Given the description of an element on the screen output the (x, y) to click on. 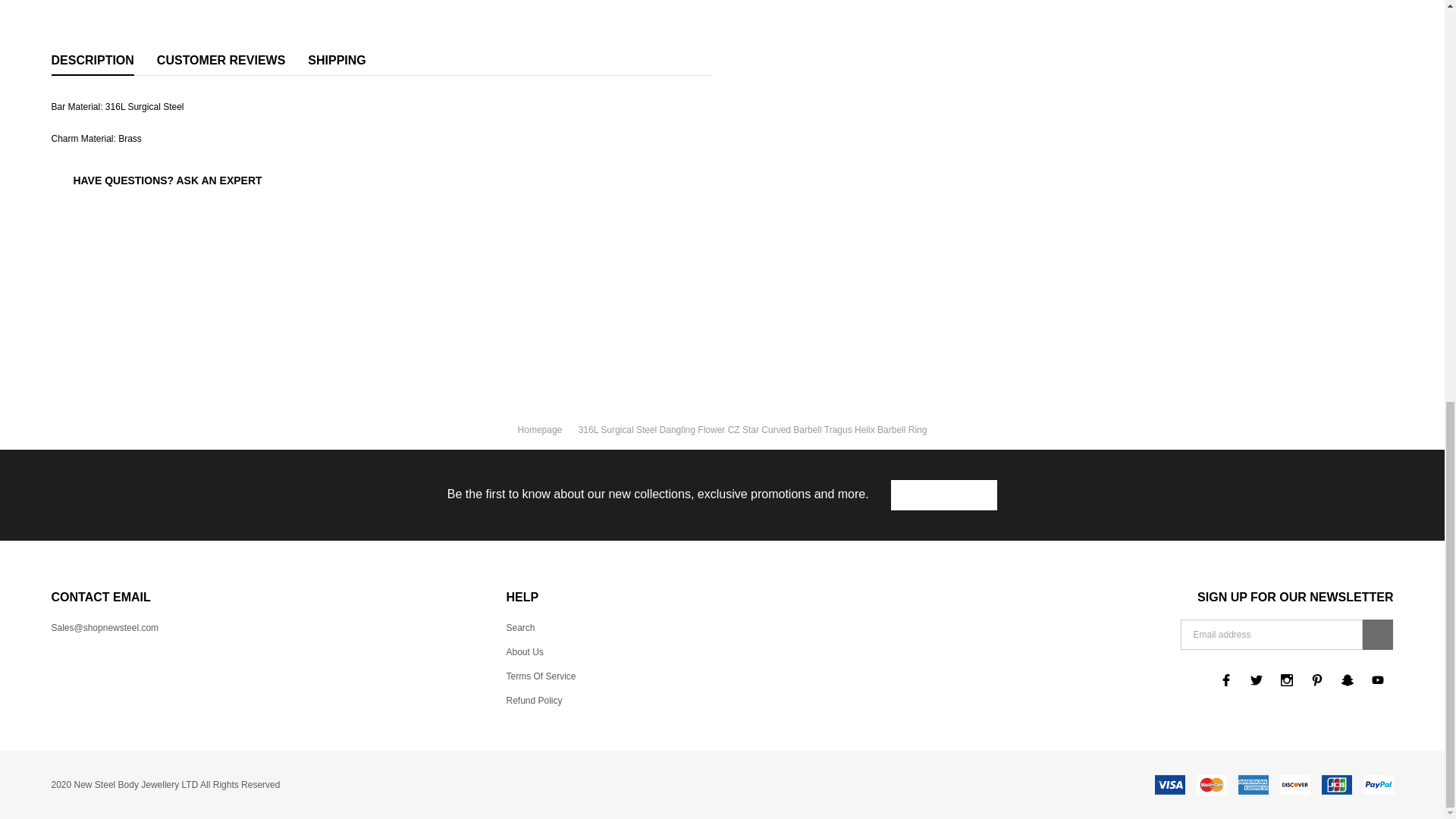
YouTube (1377, 680)
Snapchat (1347, 680)
Instagram (1286, 680)
Twitter (1256, 680)
Pinterest (1316, 680)
Facebook (1226, 680)
